Given the description of an element on the screen output the (x, y) to click on. 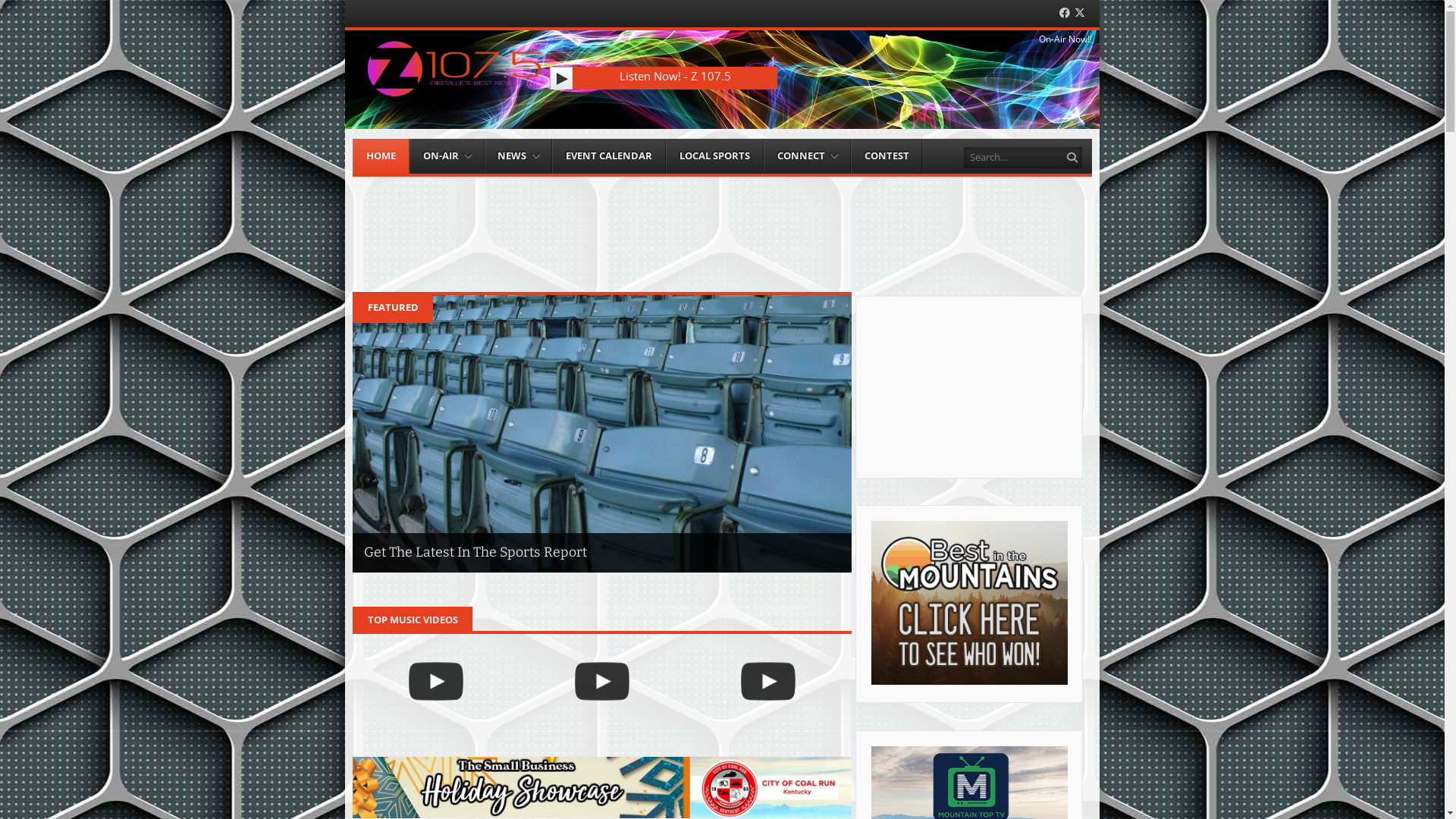
Facebook Element type: text (1064, 12)
LOCAL SPORTS Element type: text (714, 156)
Twitter Element type: text (1079, 12)
CONTEST Element type: text (886, 156)
HOME Element type: text (380, 156)
Skip to content Element type: text (386, 146)
EVENT CALENDAR Element type: text (608, 156)
CONNECT Element type: text (806, 156)
NEWS Element type: text (518, 156)
  Element type: text (560, 77)
FEATURED
Get The Latest In The Sports Report Element type: text (601, 431)
ON-AIR Element type: text (446, 156)
Go Element type: text (1074, 158)
Listen Now! - Z 107.5 Element type: text (674, 75)
